Given the description of an element on the screen output the (x, y) to click on. 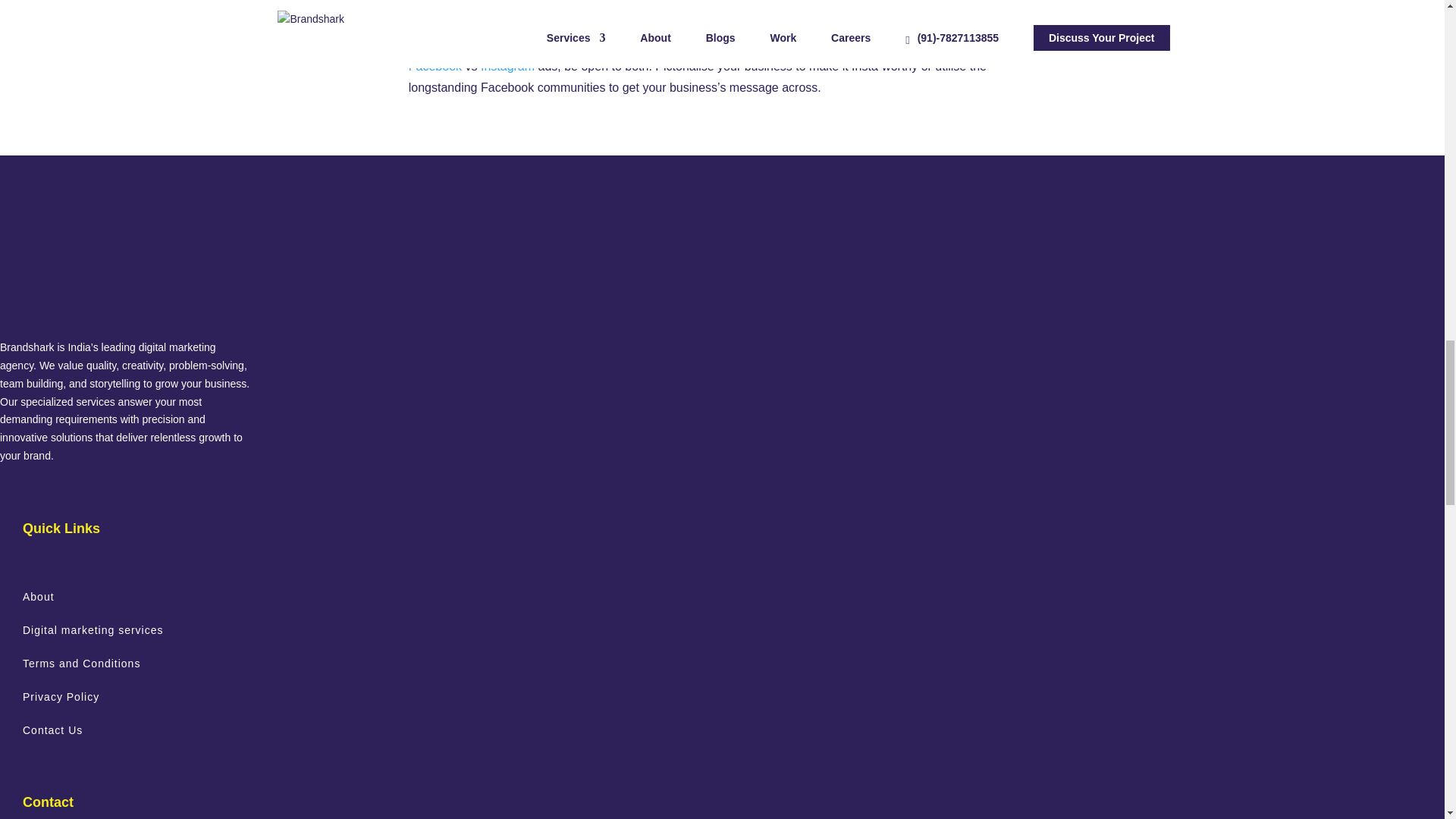
Facebook (437, 65)
Instagram (507, 65)
bs-logo-white (101, 260)
